Given the description of an element on the screen output the (x, y) to click on. 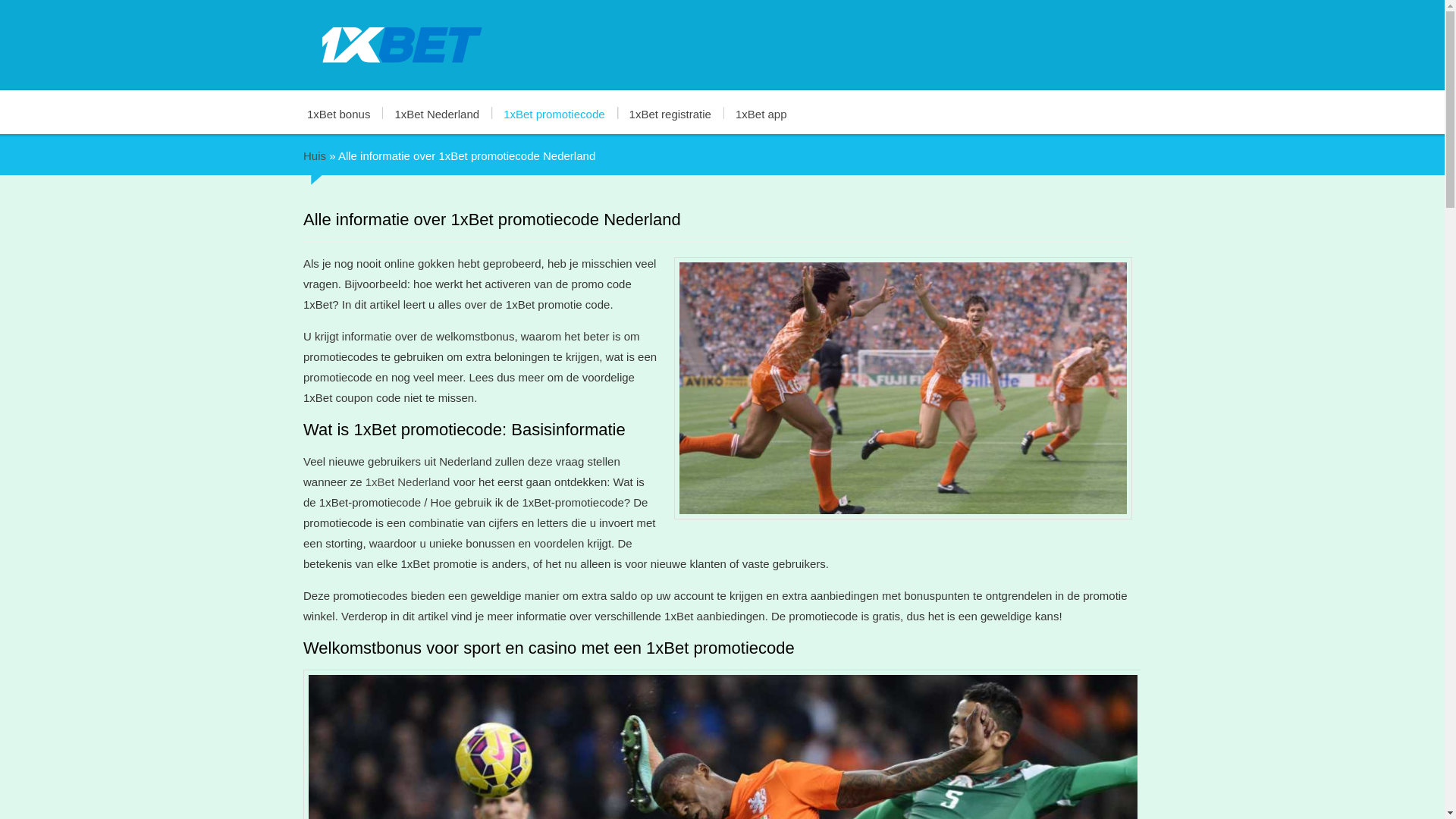
1xBet Nederland Element type: text (407, 481)
Huis Element type: text (314, 155)
1xBet Nederland Element type: text (436, 113)
1xBet bonus Element type: text (345, 113)
1xBet promotiecode Element type: text (553, 113)
1xBet app Element type: text (760, 113)
1xBet registratie Element type: text (669, 113)
